Given the description of an element on the screen output the (x, y) to click on. 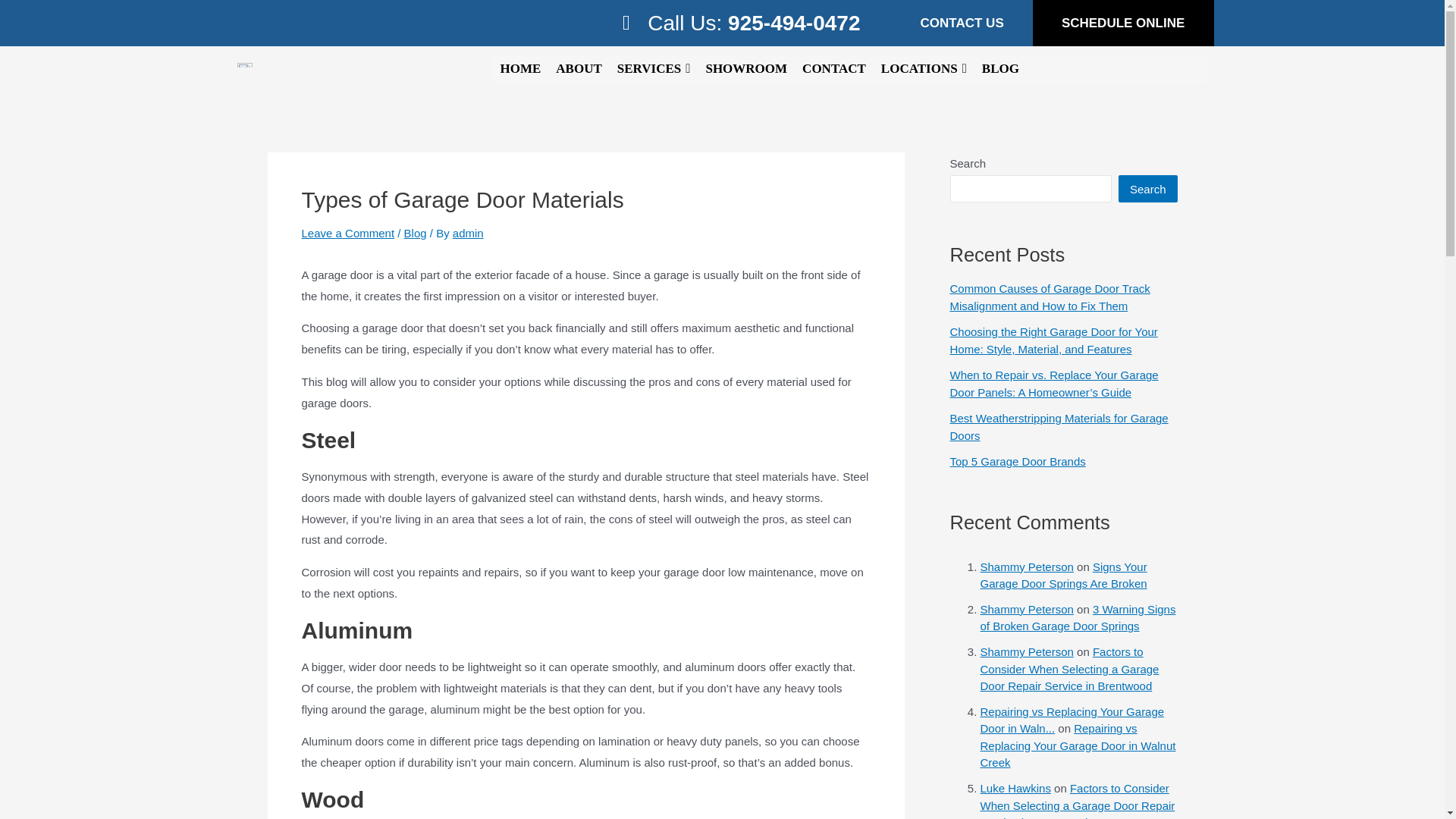
CONTACT US (962, 22)
CONTACT (833, 69)
View all posts by admin (467, 232)
BLOG (1000, 69)
925-494-0472 (794, 23)
SHOWROOM (745, 69)
ABOUT (578, 69)
HOME (520, 69)
LOCATIONS (923, 69)
SCHEDULE ONLINE (1122, 22)
